Given the description of an element on the screen output the (x, y) to click on. 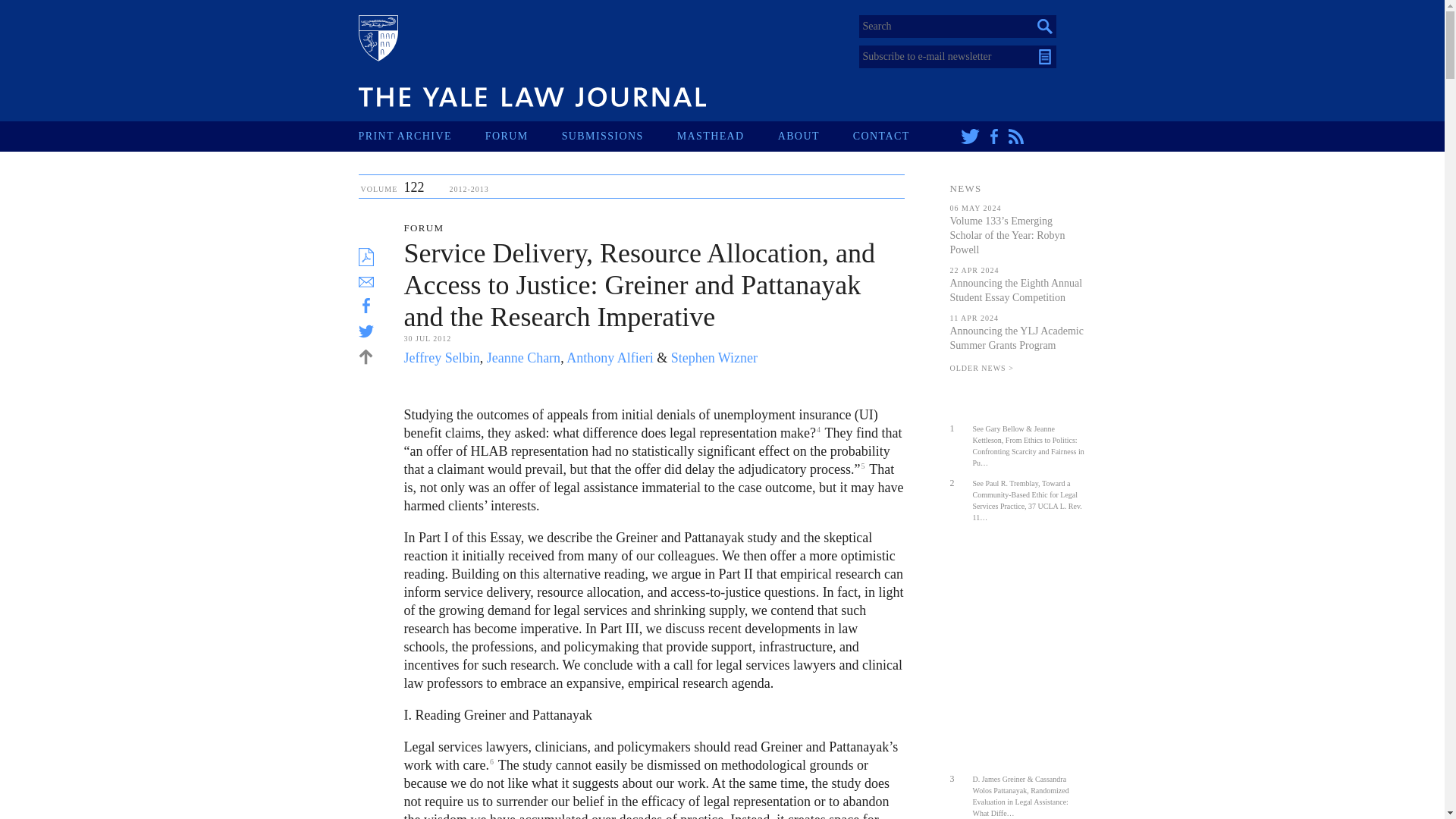
Jeanne Charn (523, 357)
5 (862, 465)
ABOUT (815, 136)
Stephen Wizner (714, 357)
MASTHEAD (727, 136)
Anthony Alfieri (609, 357)
PRINT ARCHIVE (421, 136)
Jeffrey Selbin (441, 357)
FORUM (523, 136)
6 (492, 761)
SUBMISSIONS (619, 136)
4 (818, 429)
CONTACT (898, 136)
